Given the description of an element on the screen output the (x, y) to click on. 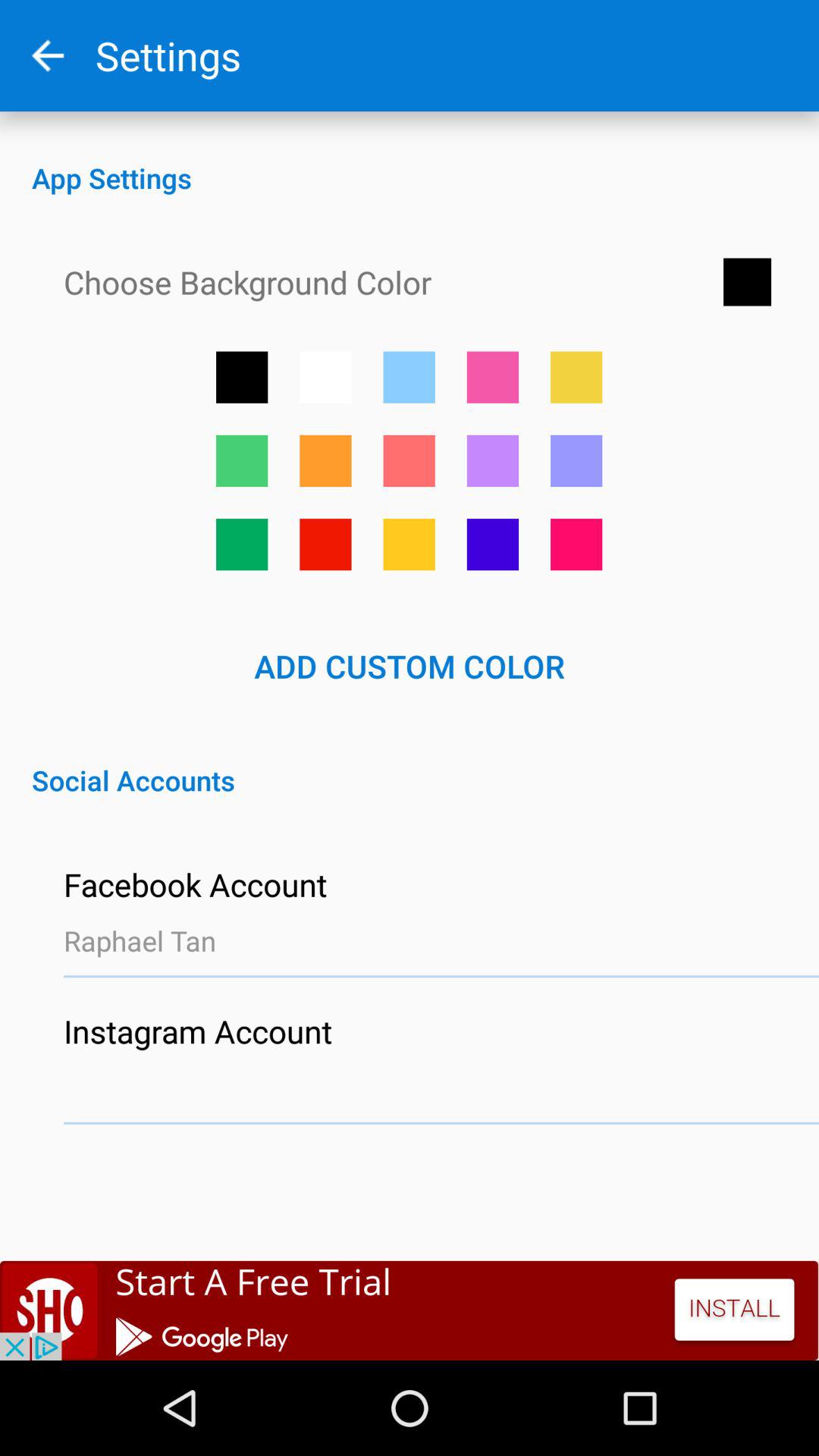
select option (325, 544)
